Given the description of an element on the screen output the (x, y) to click on. 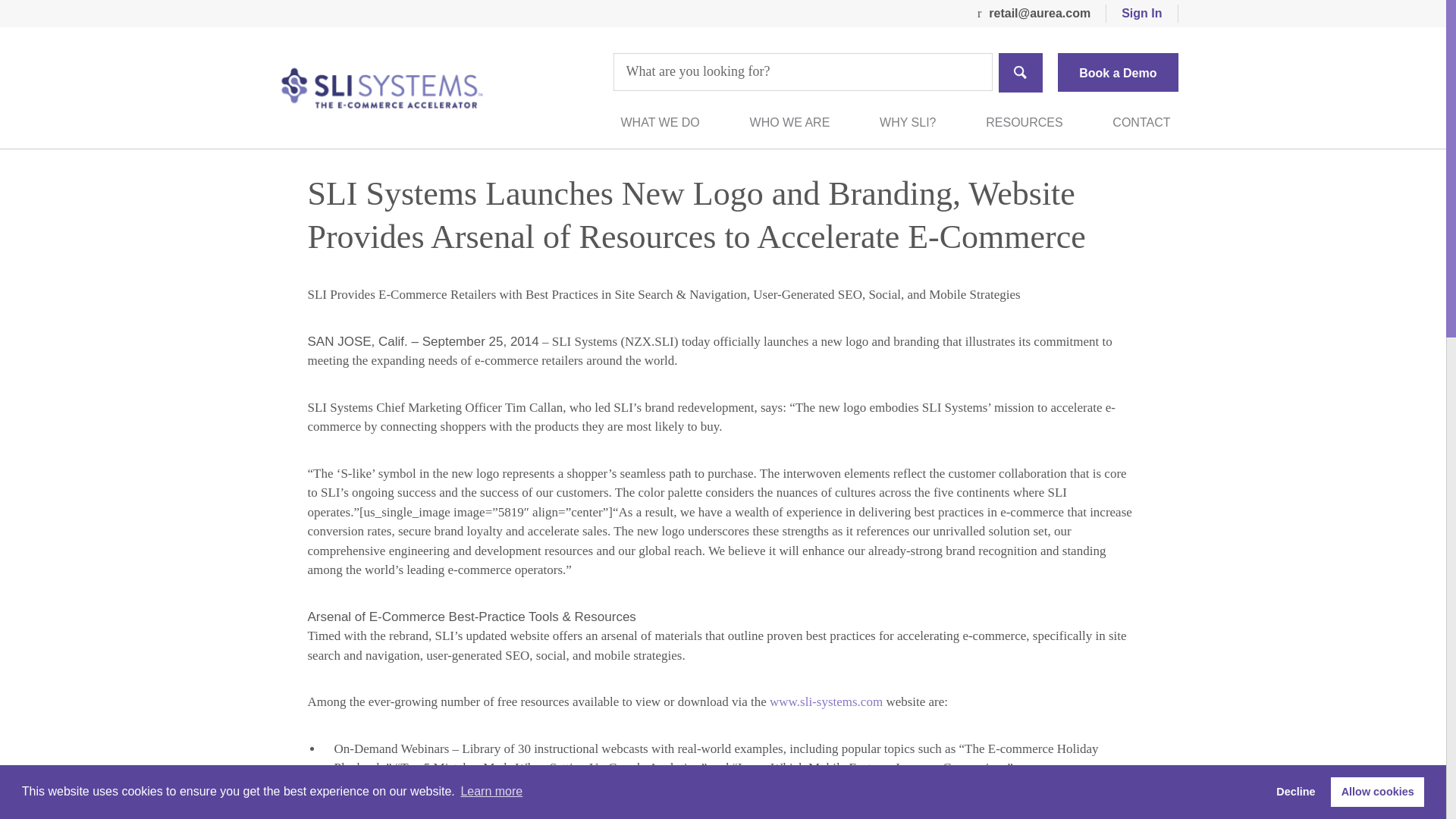
Book a Demo (1117, 72)
Learn more (491, 791)
Allow cookies (1376, 791)
WHAT WE DO (659, 122)
Decline (1295, 791)
WHY SLI? (907, 122)
RESOURCES (1023, 122)
WHO WE ARE (789, 122)
Search for: (801, 71)
Sign In (1141, 13)
